Given the description of an element on the screen output the (x, y) to click on. 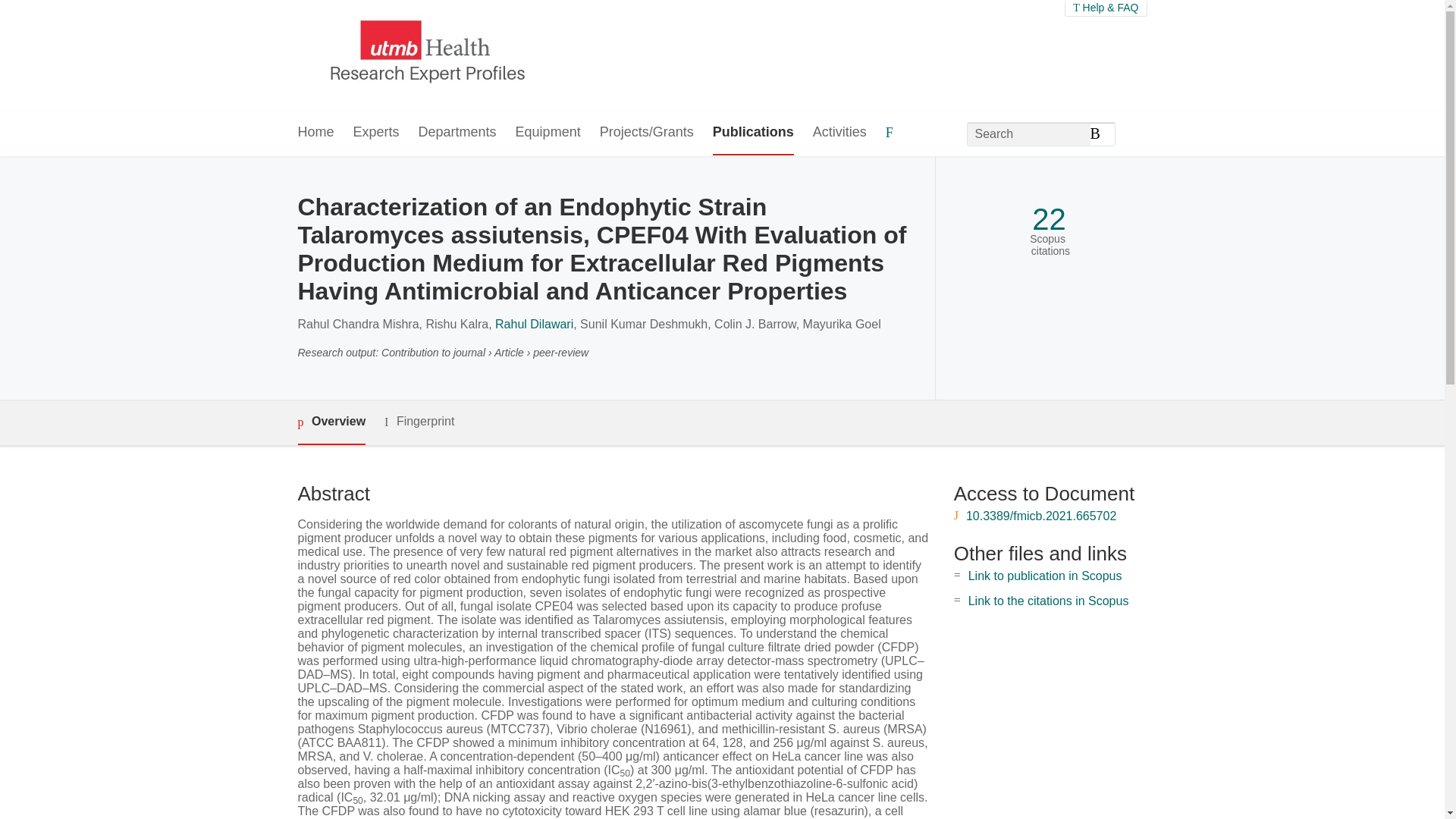
Departments (457, 132)
Publications (753, 132)
Equipment (547, 132)
Fingerprint (419, 421)
Experts (375, 132)
22 (1048, 219)
Link to the citations in Scopus (1048, 600)
Overview (331, 422)
Rahul Dilawari (534, 323)
